Given the description of an element on the screen output the (x, y) to click on. 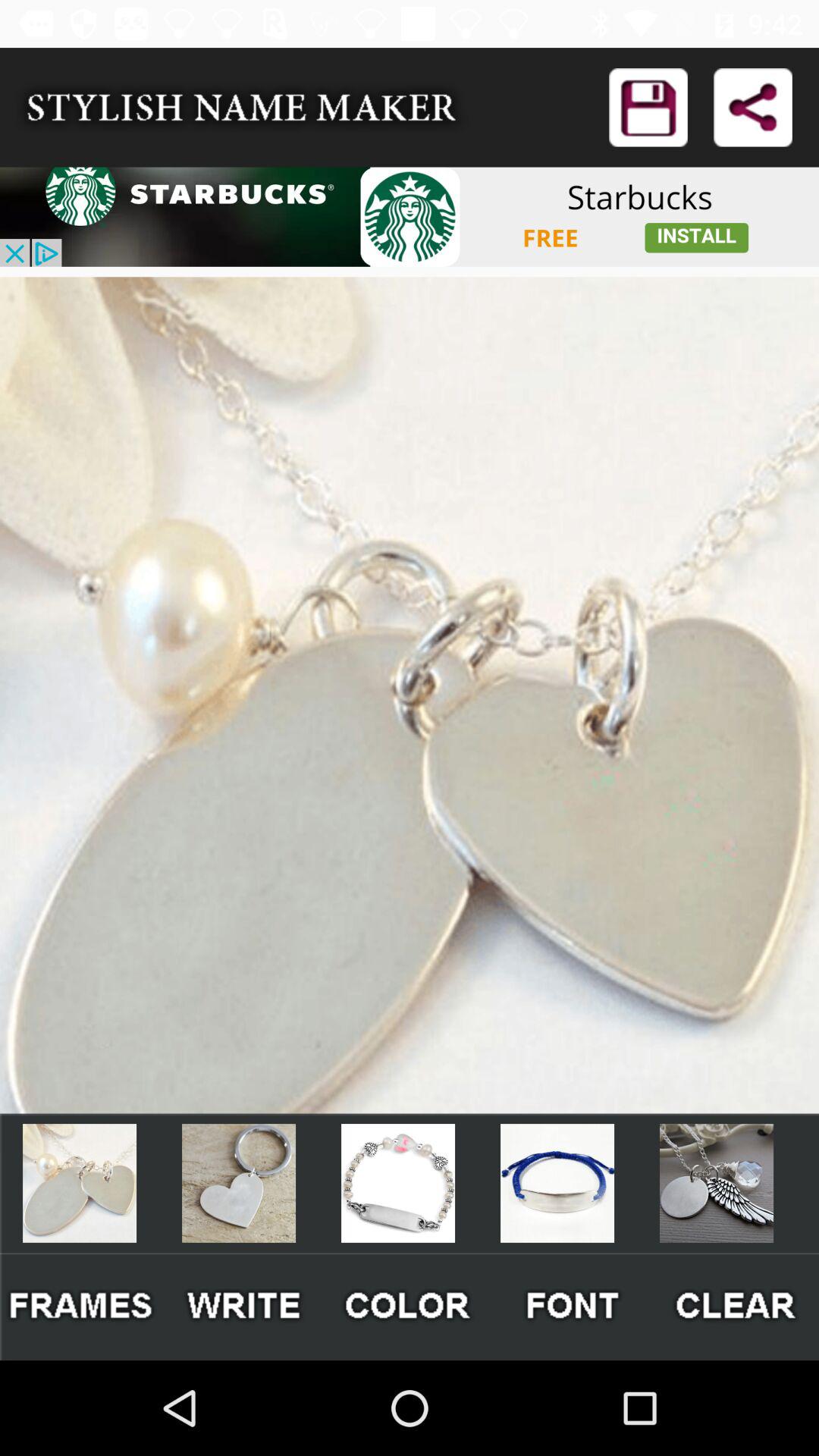
share the product (752, 107)
